Given the description of an element on the screen output the (x, y) to click on. 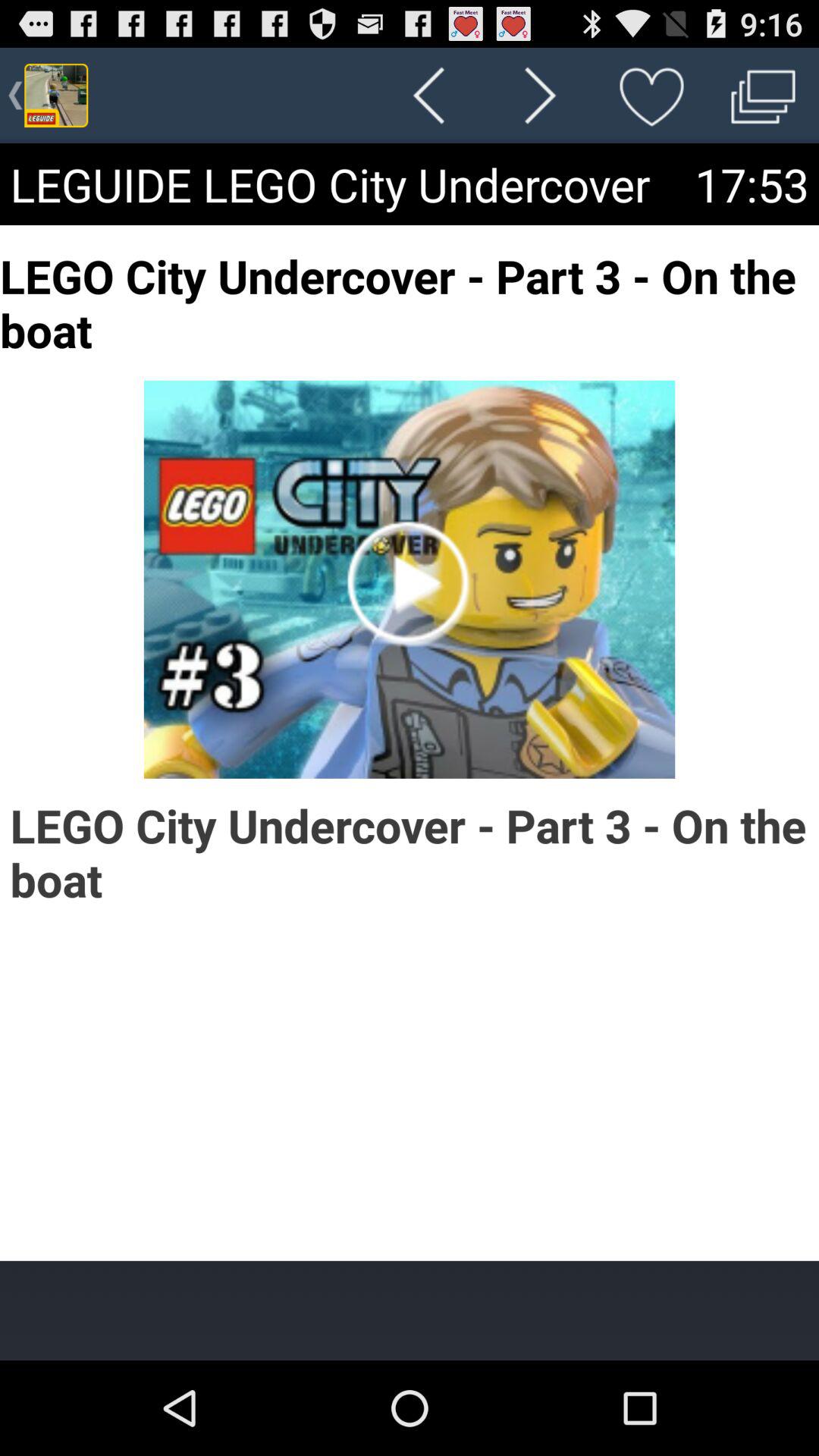
select item above the 17:53 (763, 95)
